Given the description of an element on the screen output the (x, y) to click on. 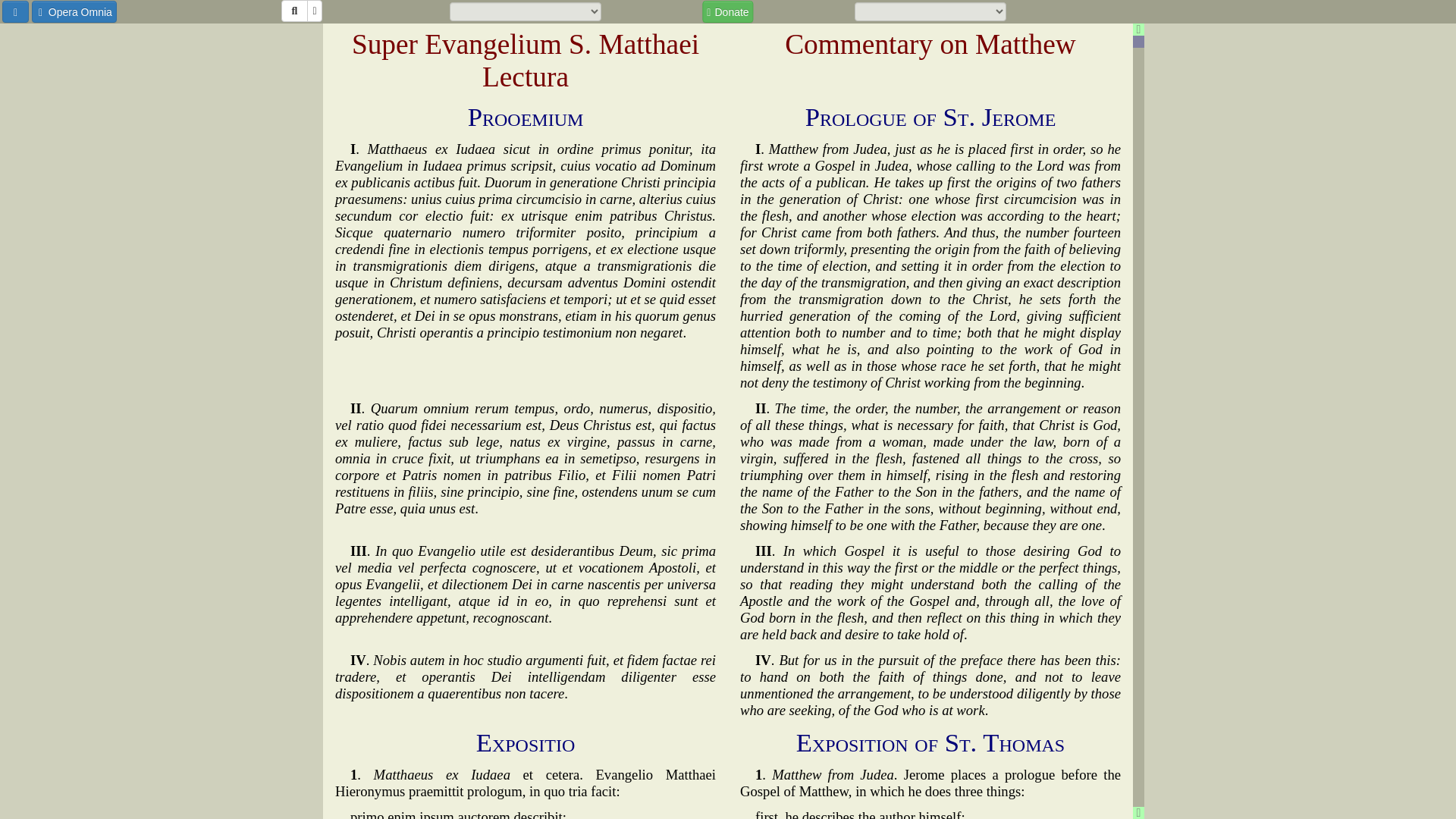
  Opera Omnia (74, 11)
Donate (726, 11)
Donate (726, 11)
